Given the description of an element on the screen output the (x, y) to click on. 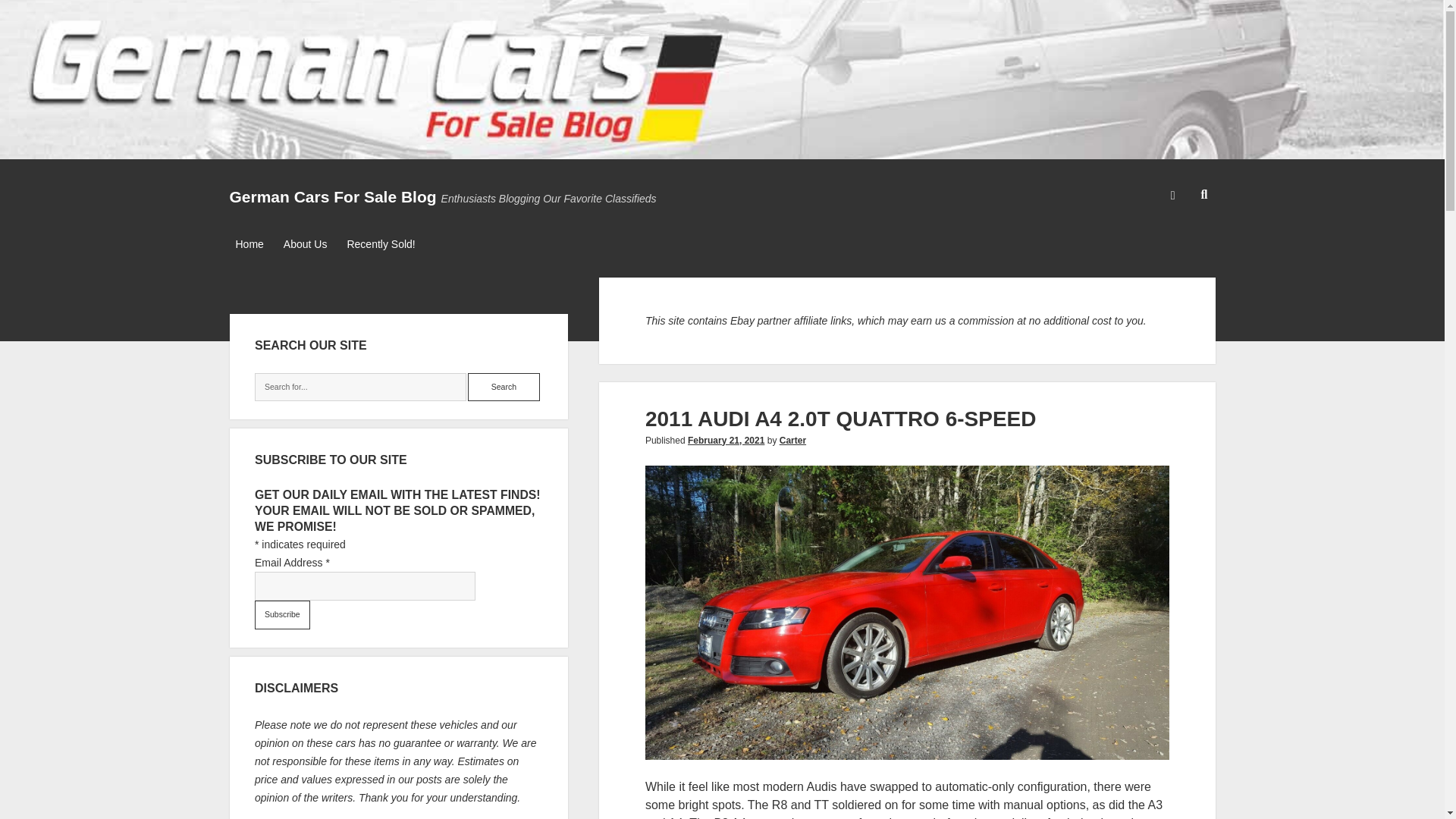
Search for: (359, 387)
Recently Sold! (380, 244)
German Cars For Sale Blog (331, 196)
Subscribe (282, 614)
Subscribe (282, 614)
Carter (792, 439)
Search (503, 387)
Search (503, 387)
Home (248, 244)
February 21, 2021 (725, 439)
